Given the description of an element on the screen output the (x, y) to click on. 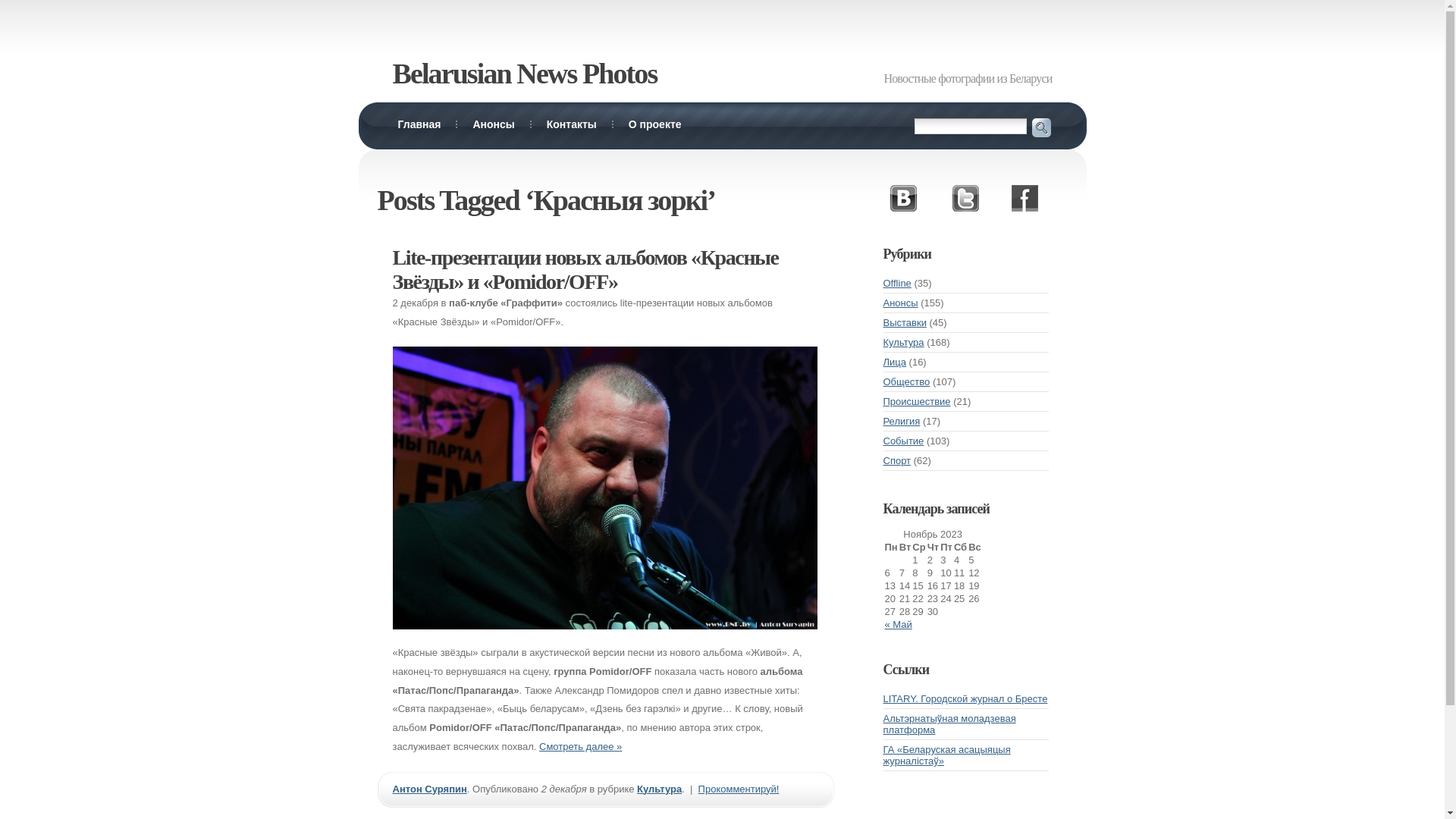
Belarusian News Photos Element type: text (524, 73)
PomidorOFF-photo-13 Element type: hover (604, 487)
Offline Element type: text (896, 282)
